Given the description of an element on the screen output the (x, y) to click on. 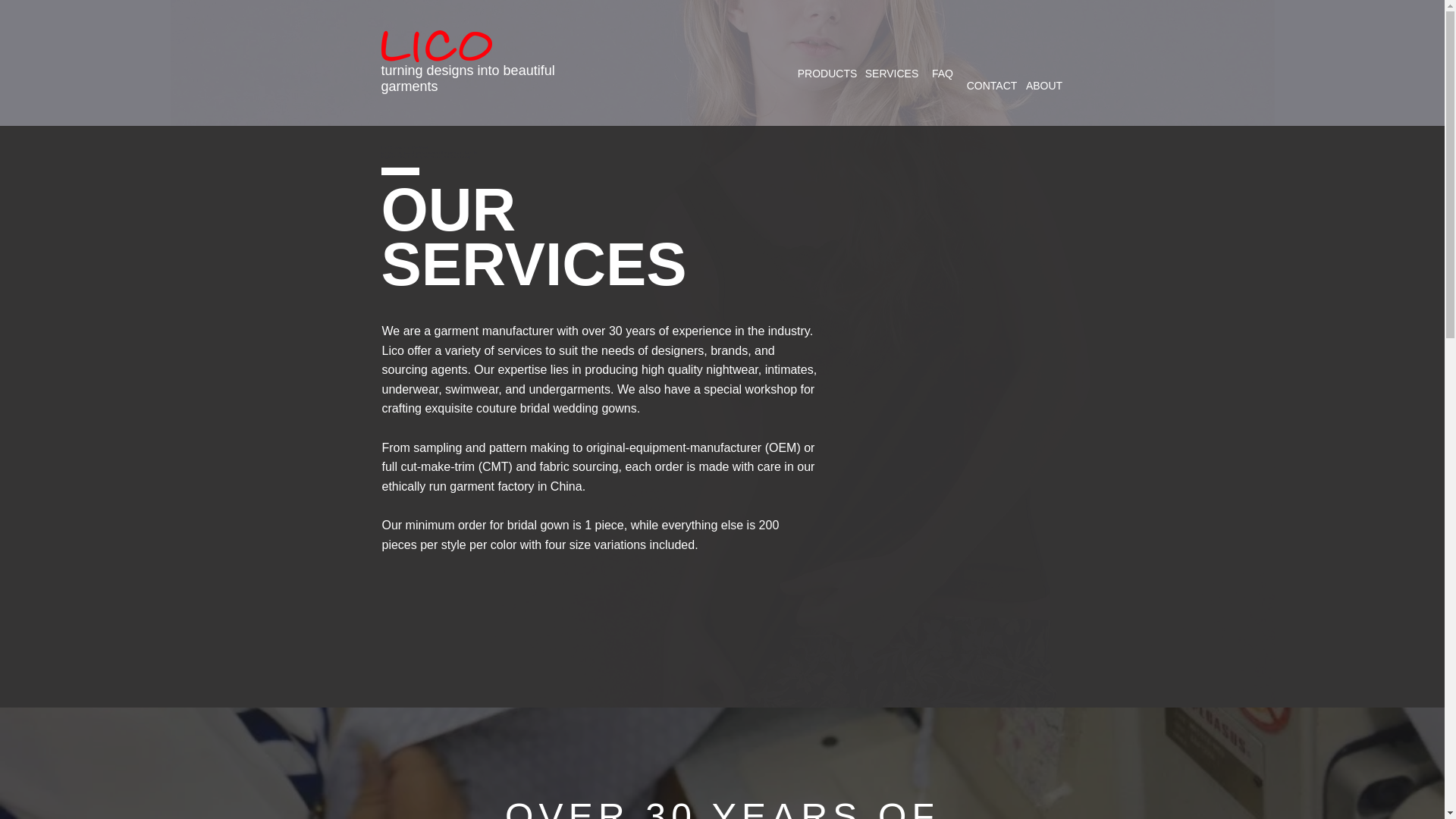
FAQ (942, 73)
ABOUT (1044, 86)
SERVICES (891, 73)
PRODUCTS (827, 73)
CONTACT (991, 86)
